Given the description of an element on the screen output the (x, y) to click on. 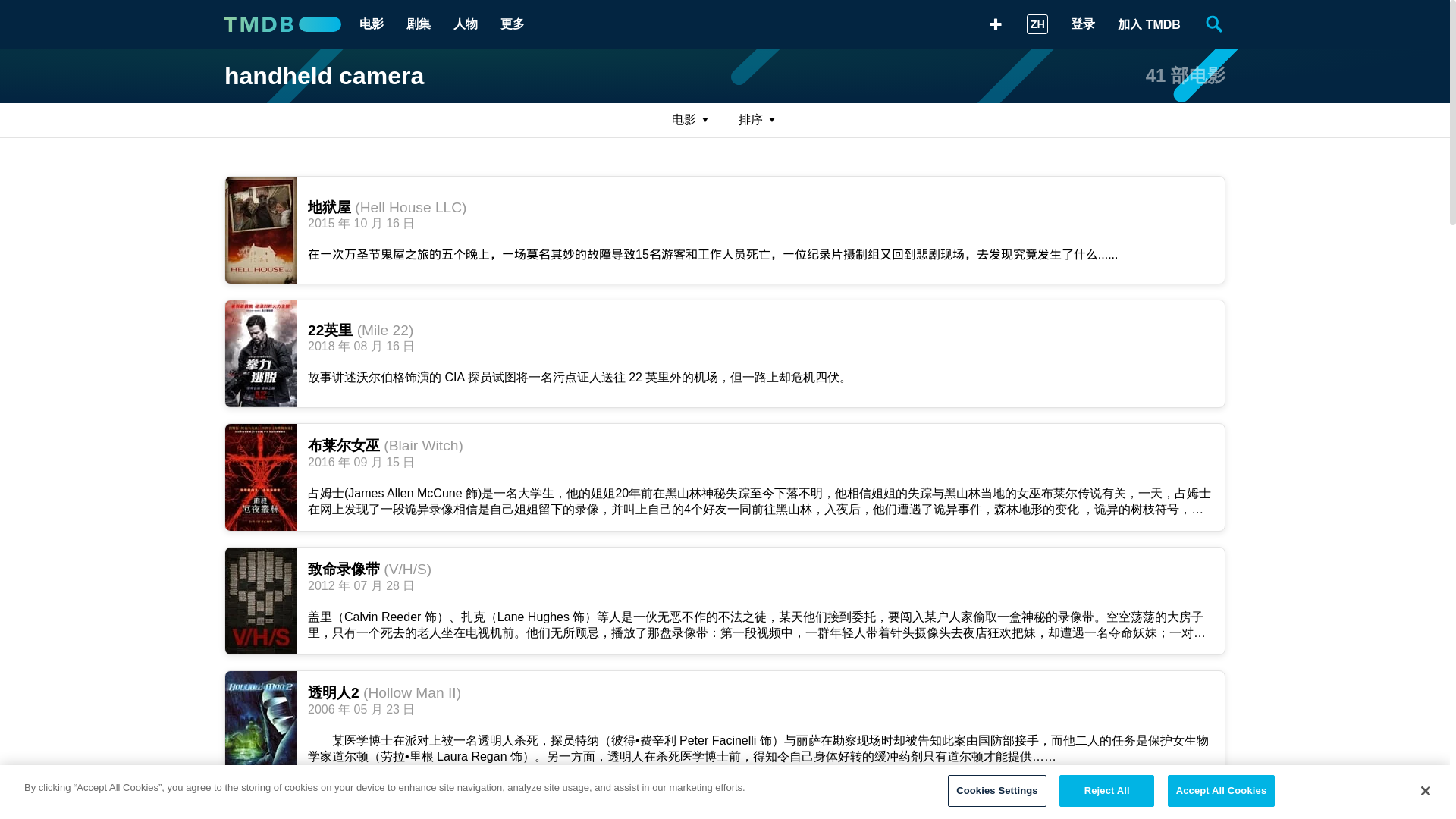
handheld camera (323, 75)
